Given the description of an element on the screen output the (x, y) to click on. 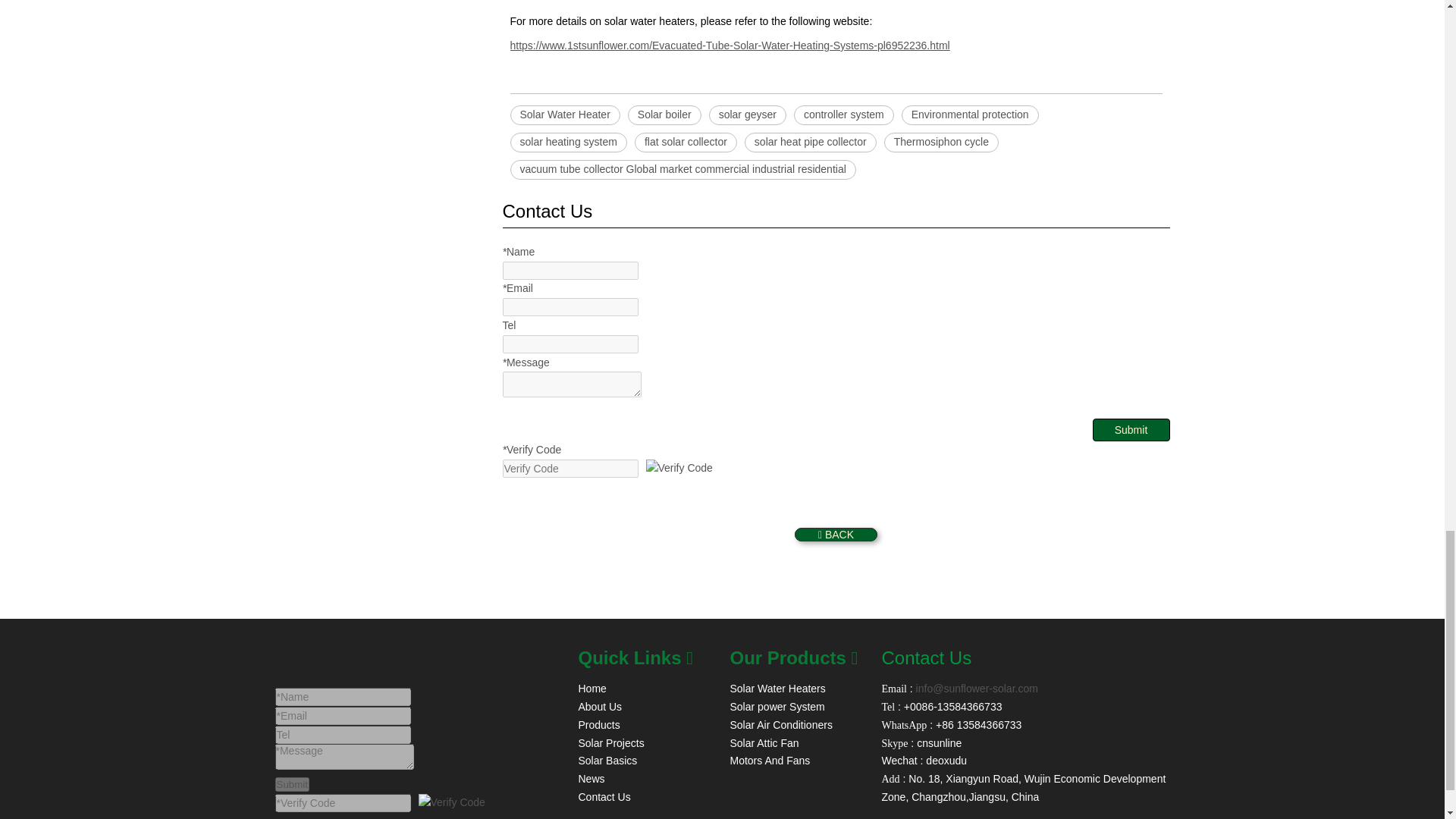
Solar Water Heater (564, 115)
Solar Basics (607, 760)
solar heating system (567, 142)
Products  (599, 725)
flat solar collector (685, 142)
Solar boiler (664, 115)
Solar Projects (610, 743)
About Us (599, 706)
controller system (843, 115)
solar geyser (747, 115)
Home (591, 688)
Environmental protection (970, 115)
Thermosiphon cycle (940, 142)
solar heat pipe collector (810, 142)
